Given the description of an element on the screen output the (x, y) to click on. 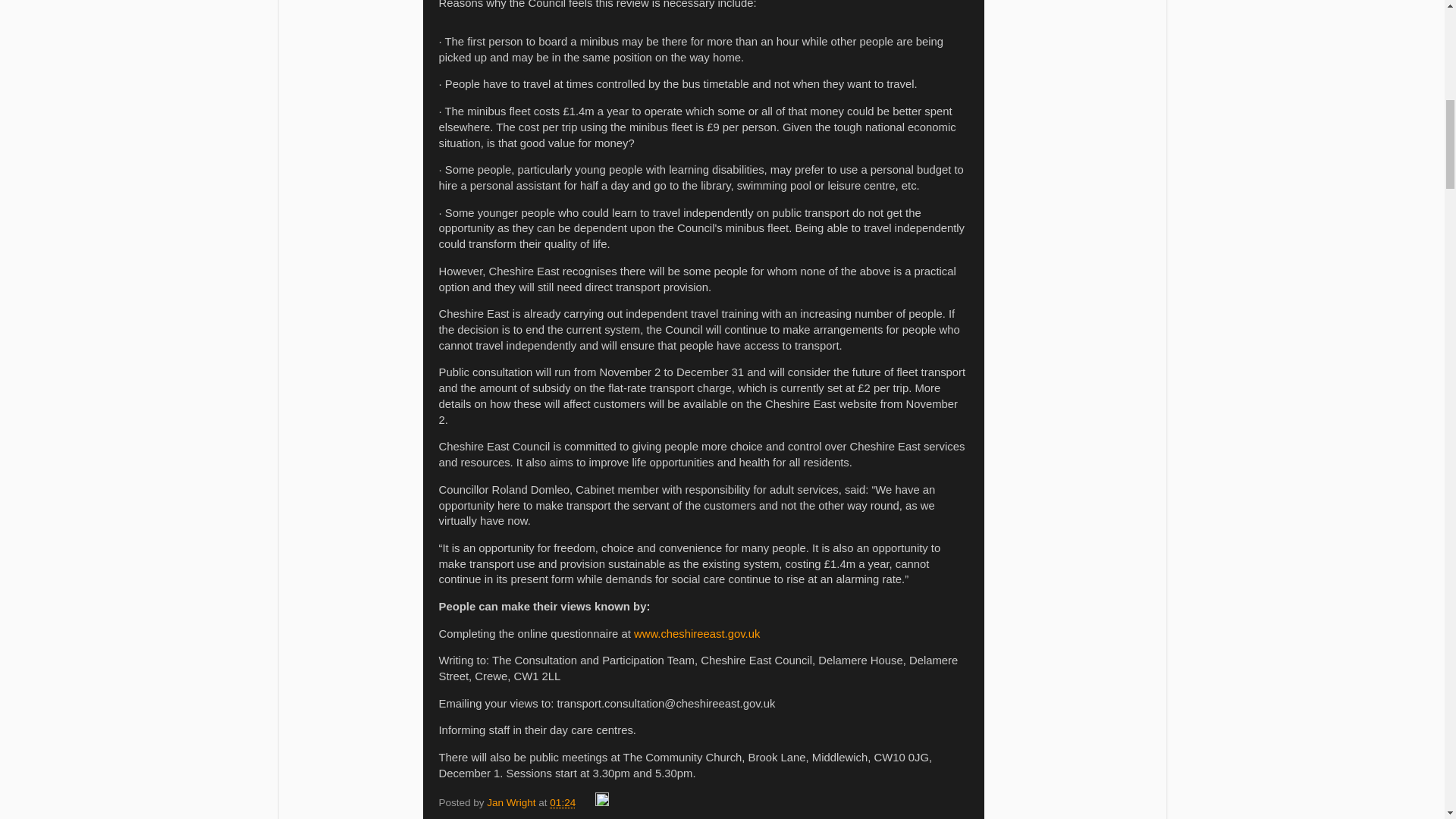
01:24 (562, 802)
Email Post (586, 802)
www.cheshireeast.gov.uk (696, 633)
Jan Wright (512, 802)
permanent link (562, 802)
author profile (512, 802)
Edit Post (601, 802)
